Given the description of an element on the screen output the (x, y) to click on. 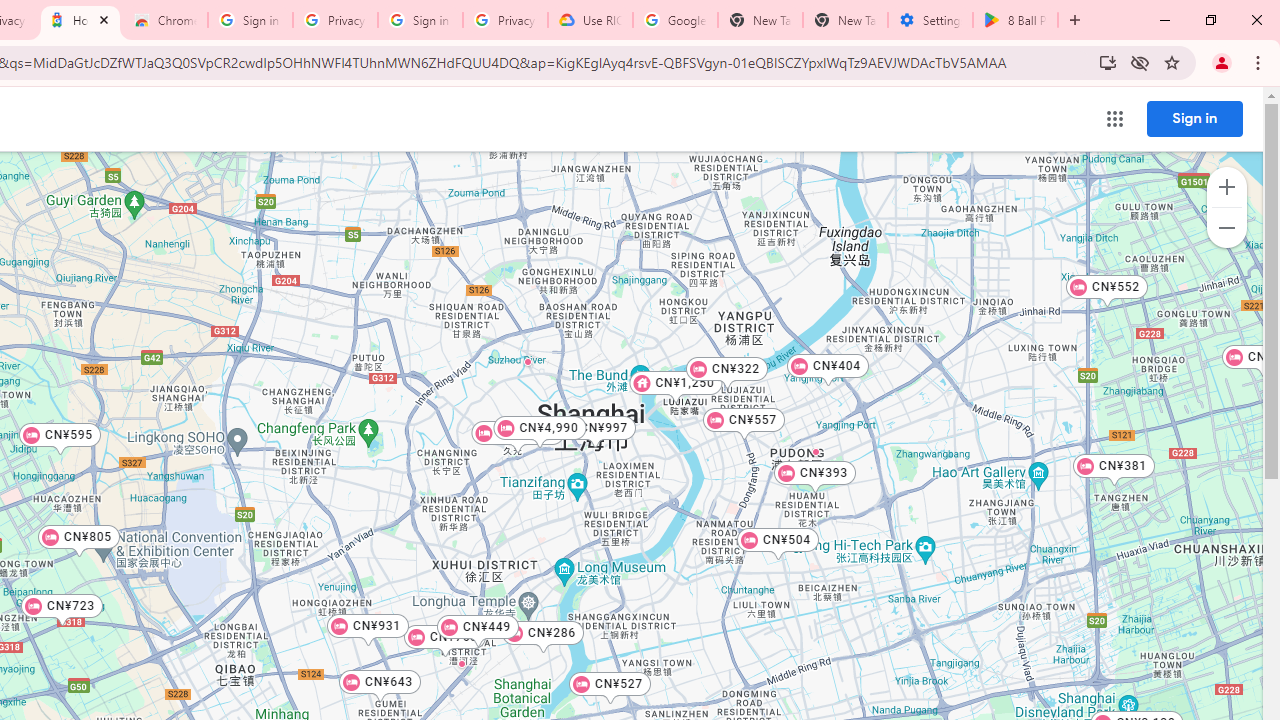
Chrome Web Store - Color themes by Chrome (165, 20)
